Given the description of an element on the screen output the (x, y) to click on. 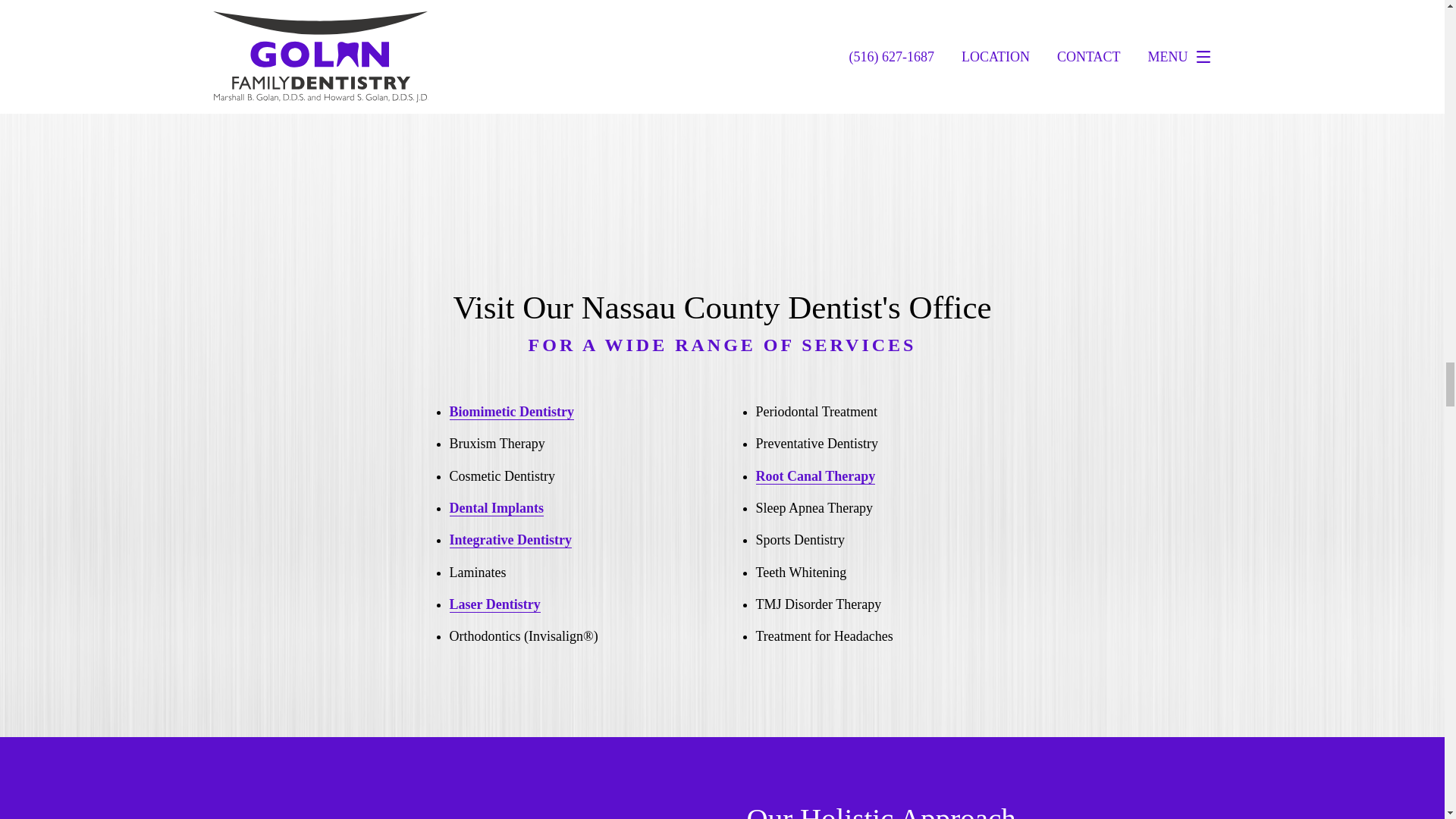
Dental Implants (495, 508)
EXPLORE INTEGRATIVE DENTISTRY (903, 30)
Integrative Dentistry (509, 539)
Biomimetic Dentistry (510, 412)
